Given the description of an element on the screen output the (x, y) to click on. 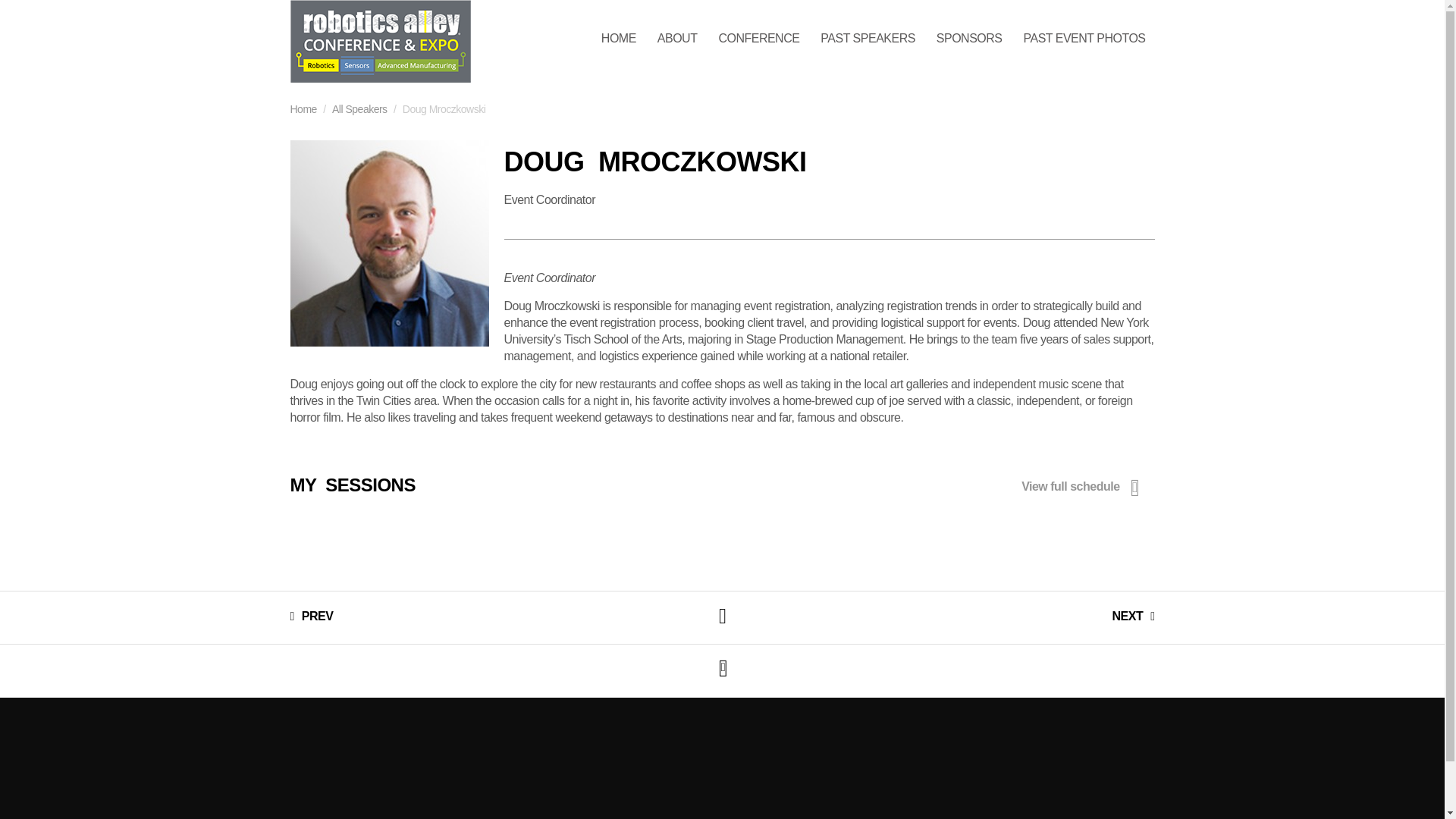
All Speakers (359, 109)
View full schedule (1084, 487)
SPONSORS (969, 39)
ABOUT (676, 39)
Doug Mroczkowski (388, 243)
Home (302, 109)
NEXT (1133, 615)
HOME (618, 39)
PREV (311, 615)
PAST EVENT PHOTOS (1083, 39)
PAST SPEAKERS (867, 39)
CONFERENCE (758, 39)
